Given the description of an element on the screen output the (x, y) to click on. 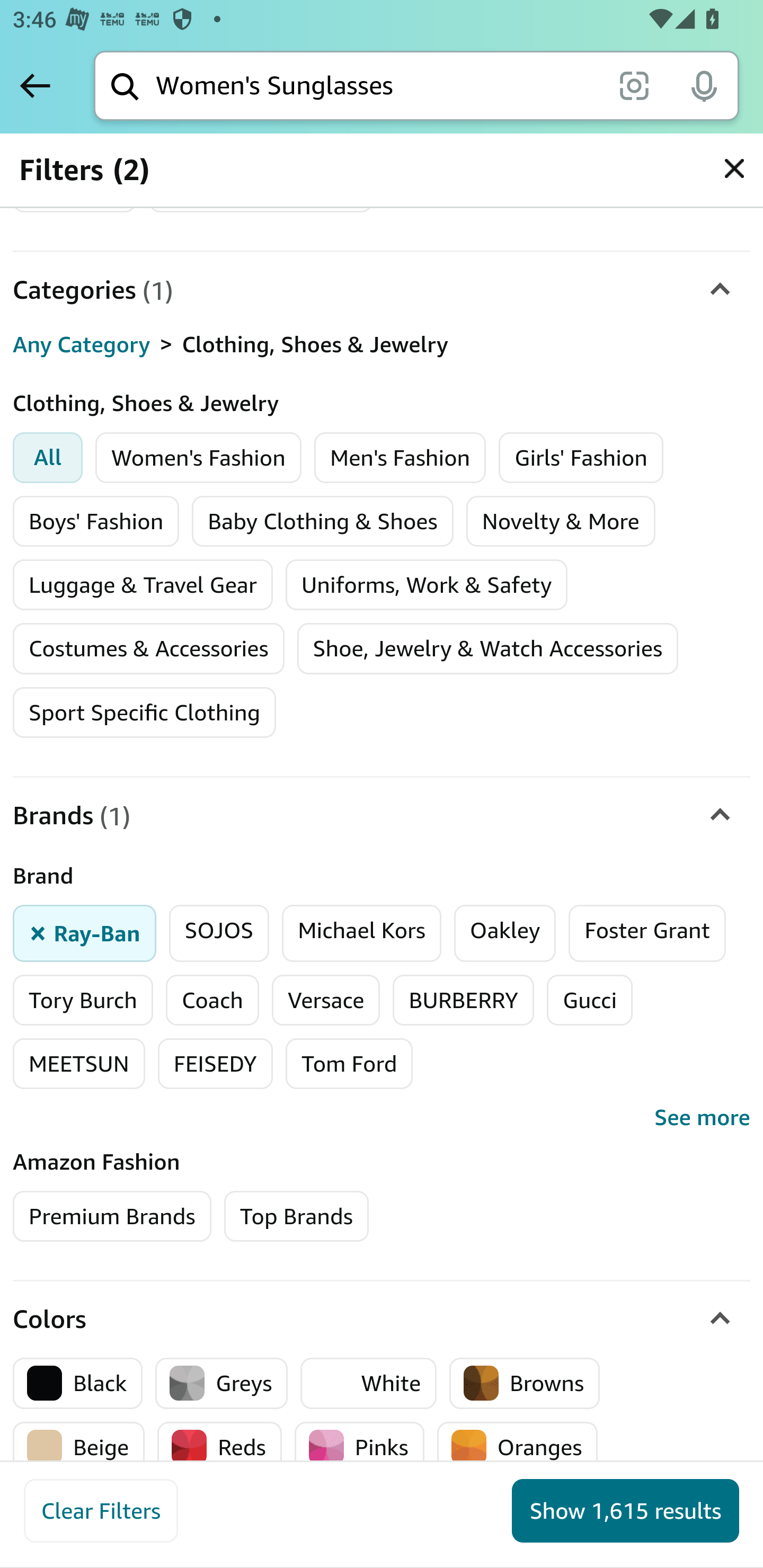
Back (35, 85)
scan it (633, 85)
Categories (1) (381, 289)
Any Category (81, 343)
Women's Fashion (198, 457)
Men's Fashion (399, 457)
Girls' Fashion (580, 457)
Boys' Fashion (95, 521)
Baby Clothing & Shoes (322, 521)
Novelty & More (560, 521)
Luggage & Travel Gear (142, 585)
Uniforms, Work & Safety (426, 585)
Costumes & Accessories (148, 648)
Shoe, Jewelry & Watch Accessories (487, 648)
Sport Specific Clothing (144, 712)
Brands (1) (381, 815)
× Ray-Ban × Ray-Ban (84, 933)
